Given the description of an element on the screen output the (x, y) to click on. 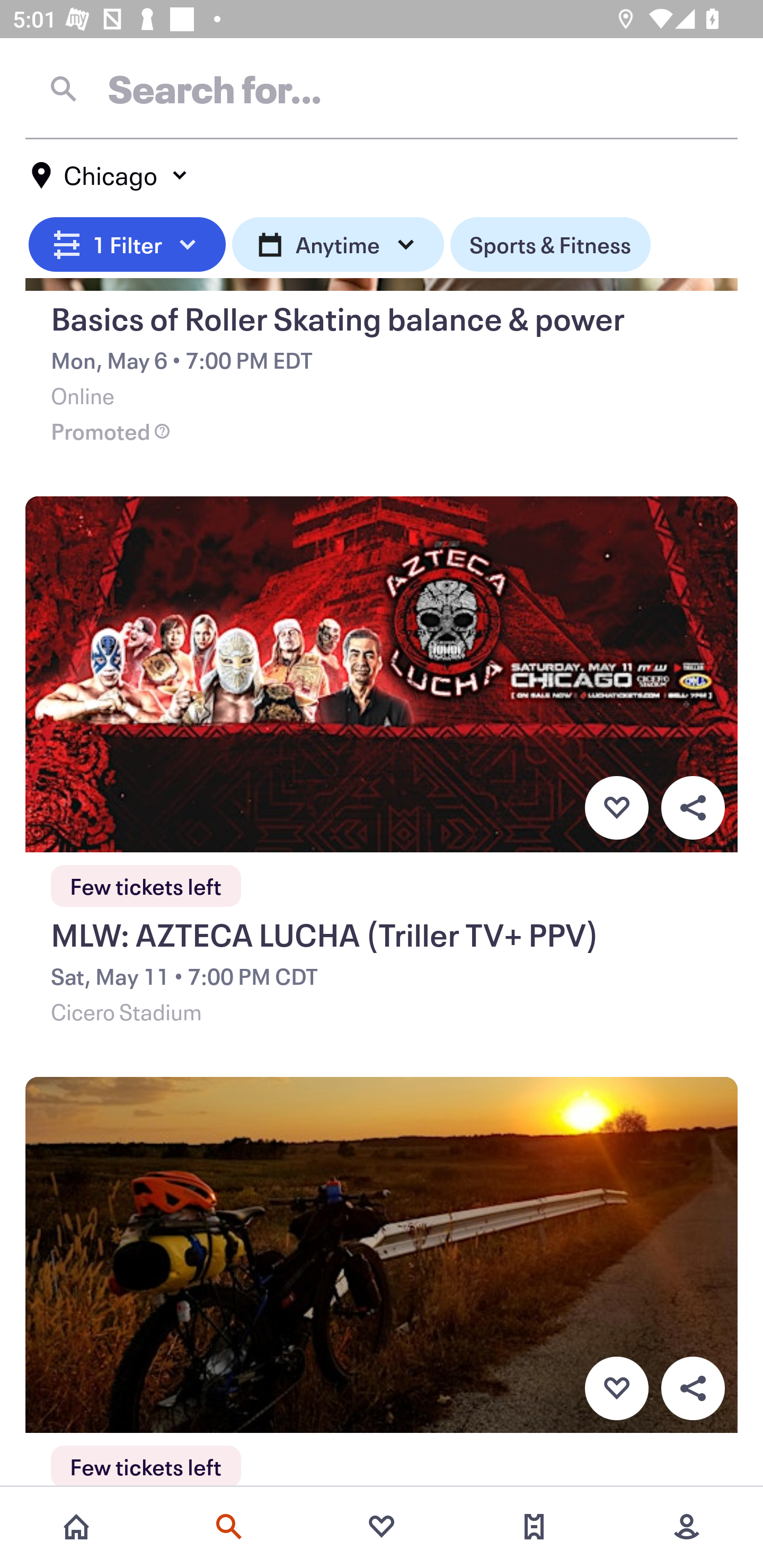
Search for… (381, 88)
Chicago (110, 175)
Favorite button (616, 807)
Overflow menu button (692, 807)
Favorite button (616, 1388)
Overflow menu button (692, 1388)
Home (76, 1526)
Search events (228, 1526)
Favorites (381, 1526)
Tickets (533, 1526)
More (686, 1526)
